Given the description of an element on the screen output the (x, y) to click on. 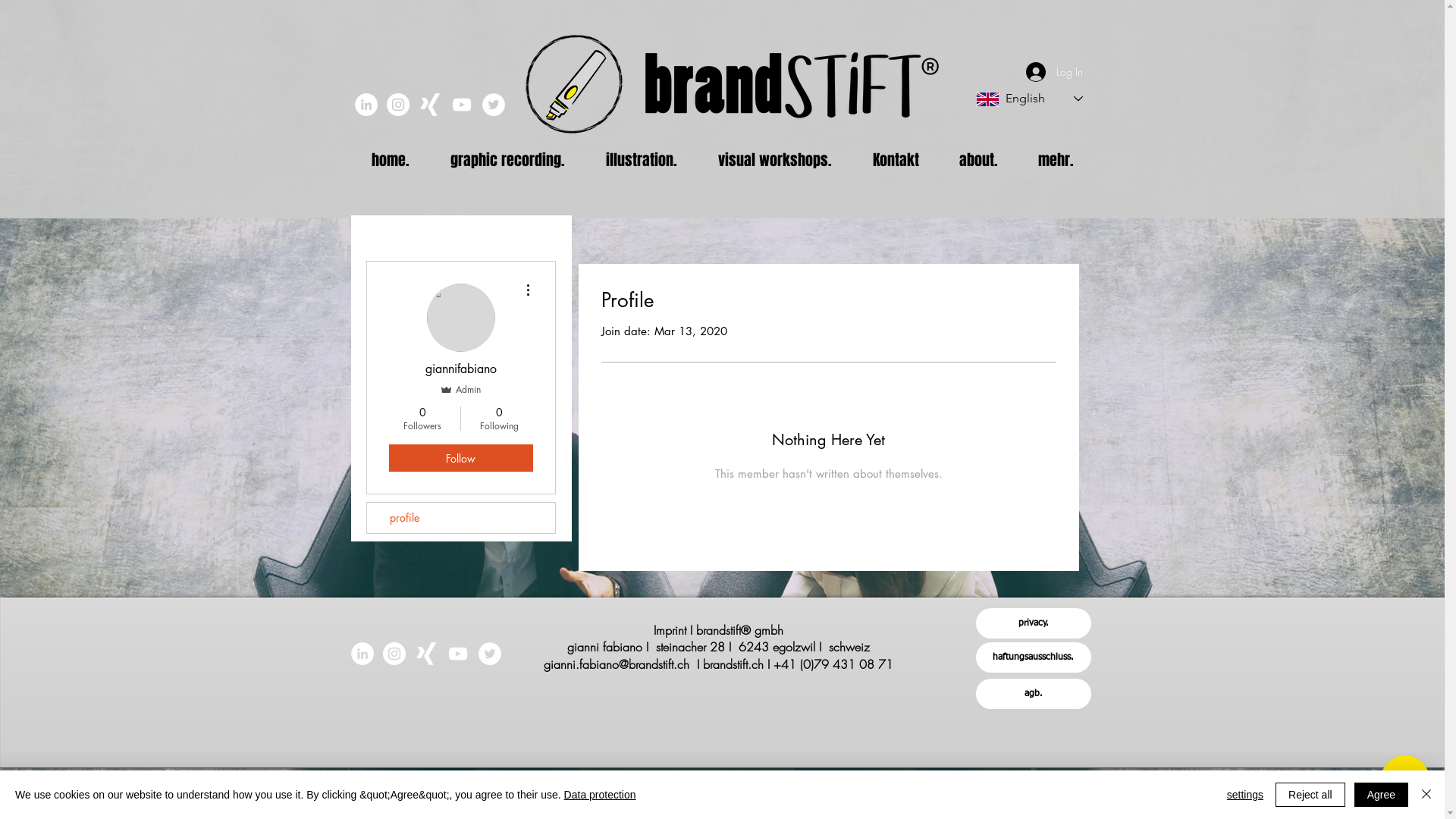
Data protection Element type: text (600, 794)
illustration. Element type: text (641, 160)
visual workshops. Element type: text (774, 160)
gianni.fabiano@brandstift.ch Element type: text (616, 663)
haftungsausschluss. Element type: text (1032, 657)
about. Element type: text (977, 160)
agb. Element type: text (1032, 693)
privacy. Element type: text (1032, 623)
Log In Element type: text (1053, 71)
0
Following Element type: text (499, 418)
graphic recording. Element type: text (506, 160)
home. Element type: text (389, 160)
0
Followers Element type: text (421, 418)
profile Element type: text (461, 517)
Kontakt Element type: text (895, 160)
Follow Element type: text (460, 457)
Agree Element type: text (1381, 794)
Reject all Element type: text (1310, 794)
